Given the description of an element on the screen output the (x, y) to click on. 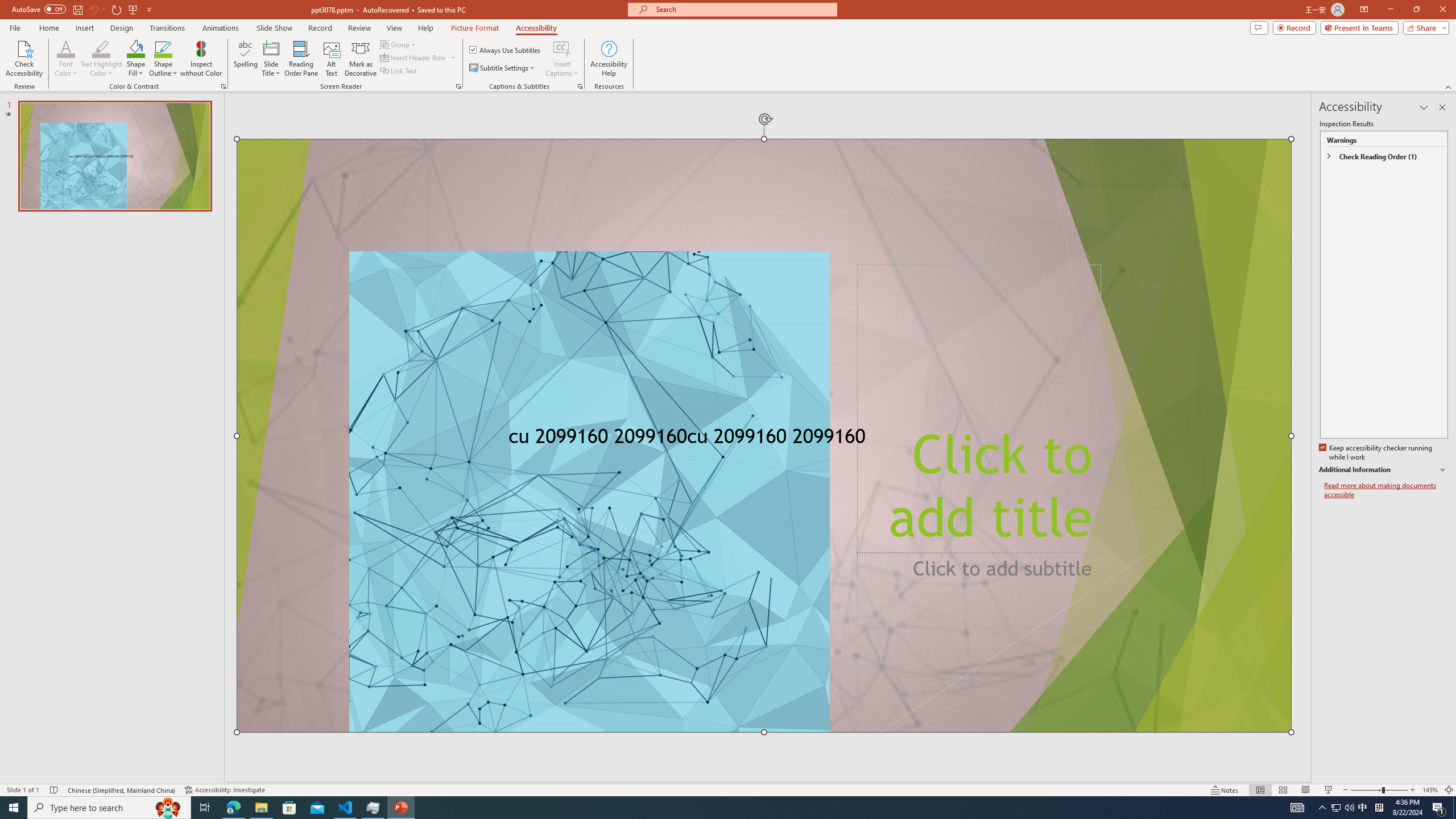
Picture Format (475, 28)
Zoom 145% (1430, 790)
Screen Reader (458, 85)
